Given the description of an element on the screen output the (x, y) to click on. 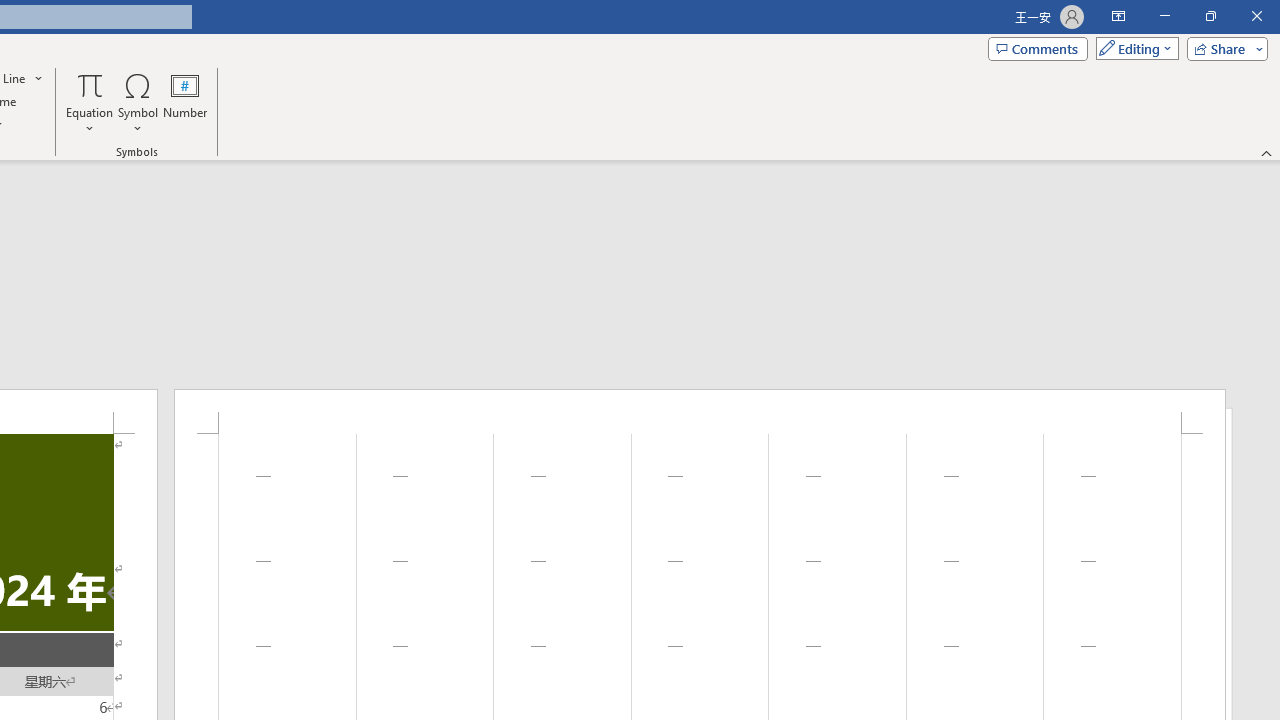
Symbol (138, 102)
Number... (185, 102)
Equation (90, 102)
Equation (90, 84)
